Given the description of an element on the screen output the (x, y) to click on. 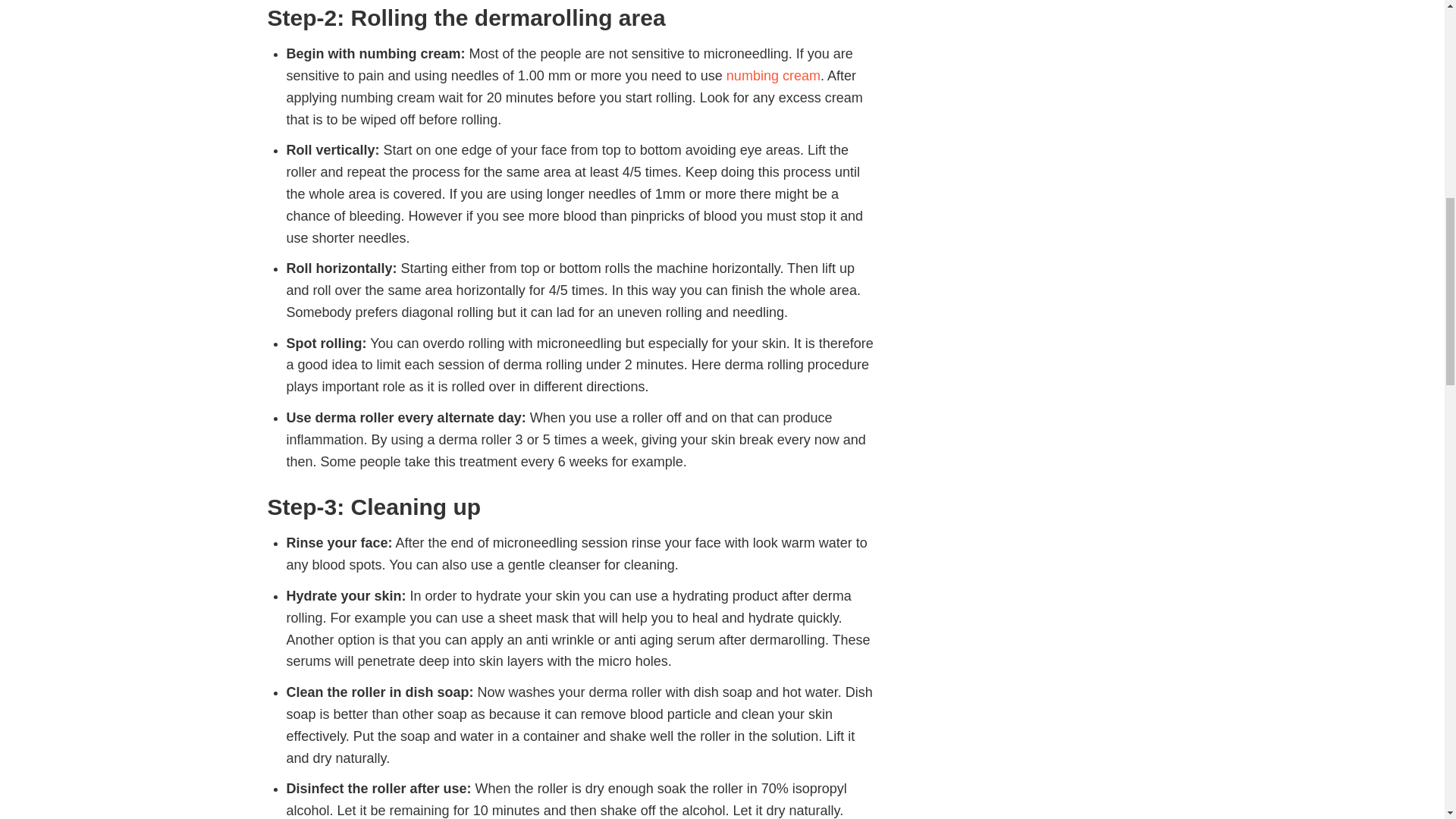
numbing cream (773, 75)
